Given the description of an element on the screen output the (x, y) to click on. 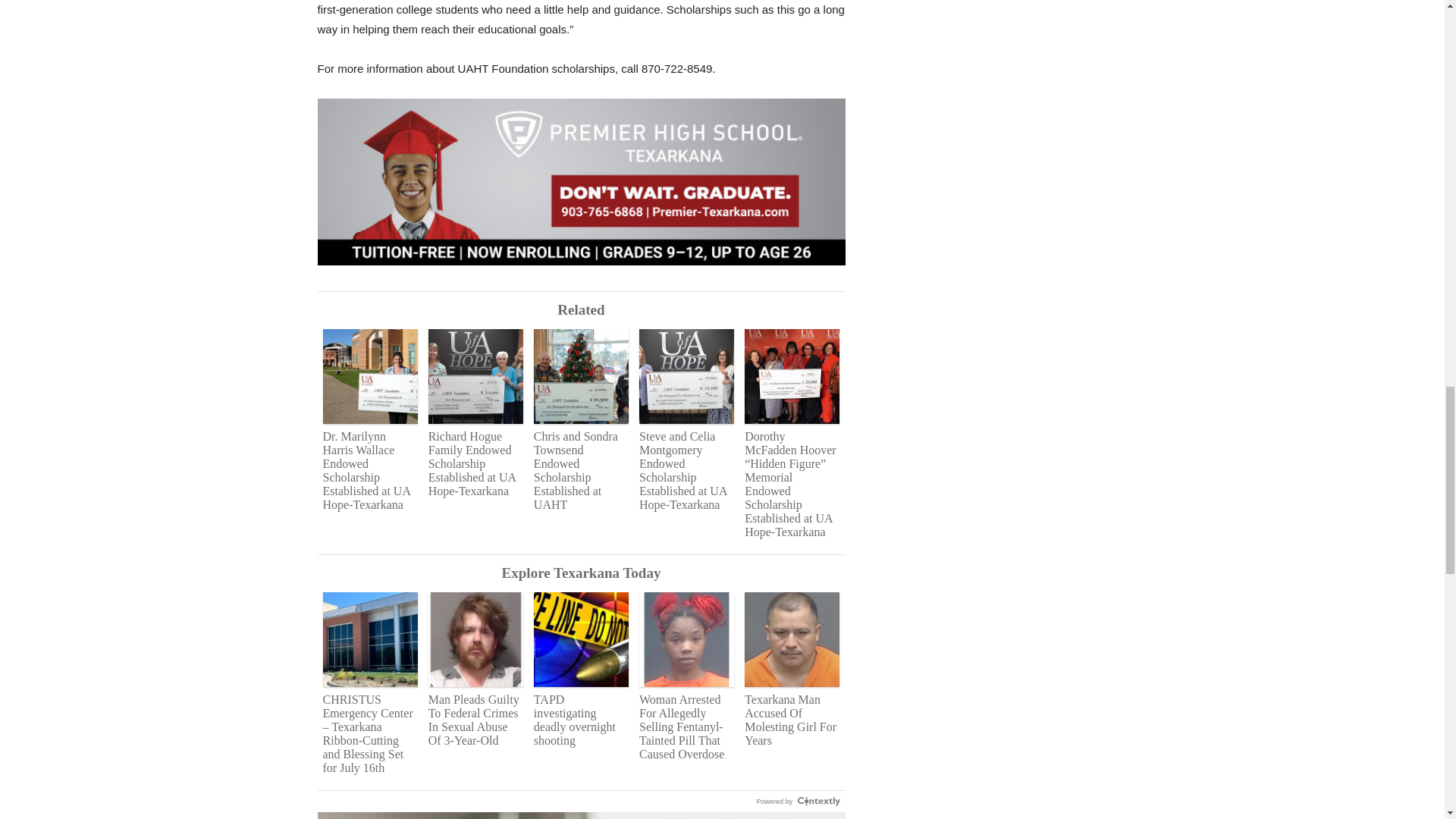
Premier HS 728 230 3 (580, 189)
